Given the description of an element on the screen output the (x, y) to click on. 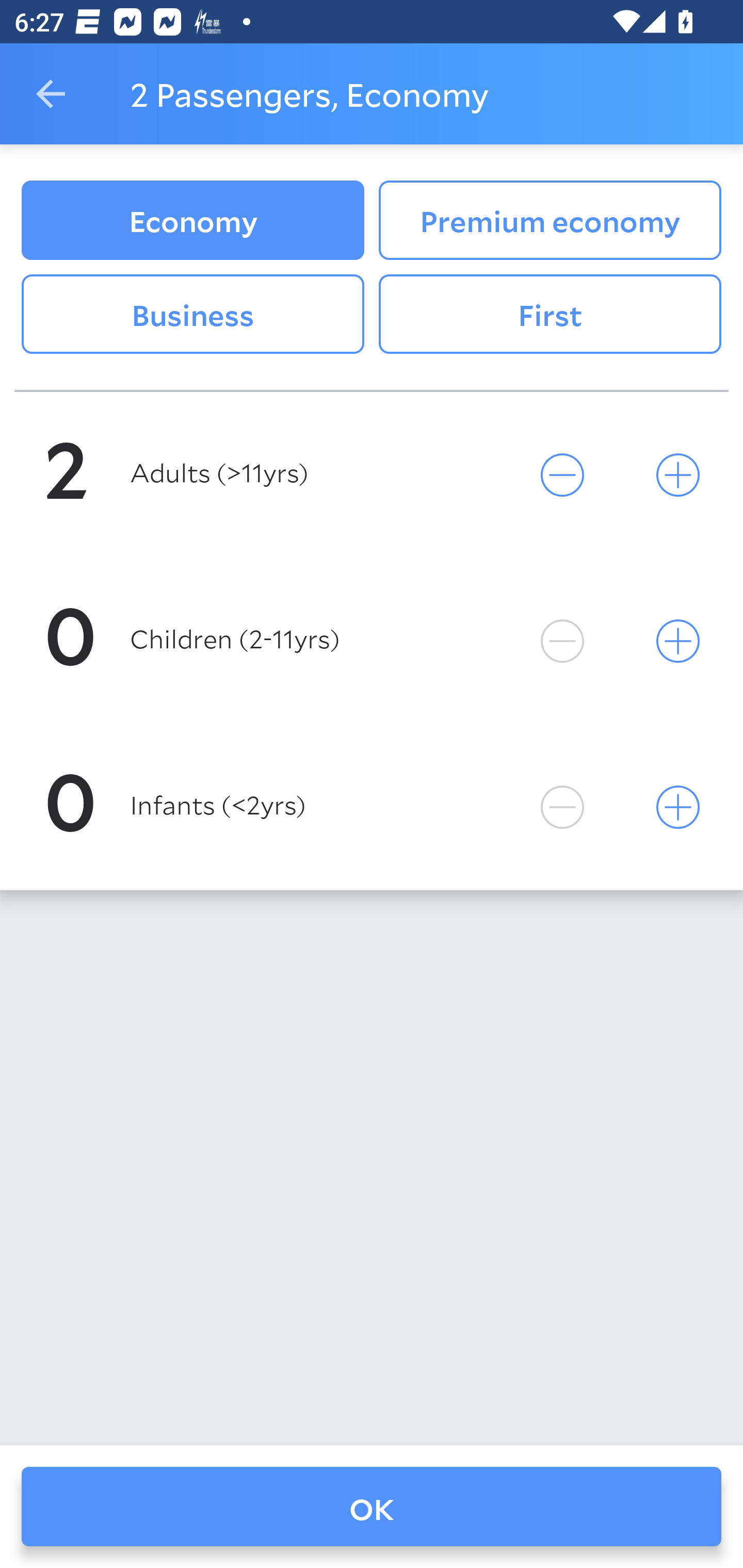
Navigate up (50, 93)
Economy (192, 220)
Premium economy (549, 220)
Business (192, 314)
First (549, 314)
OK (371, 1506)
